Given the description of an element on the screen output the (x, y) to click on. 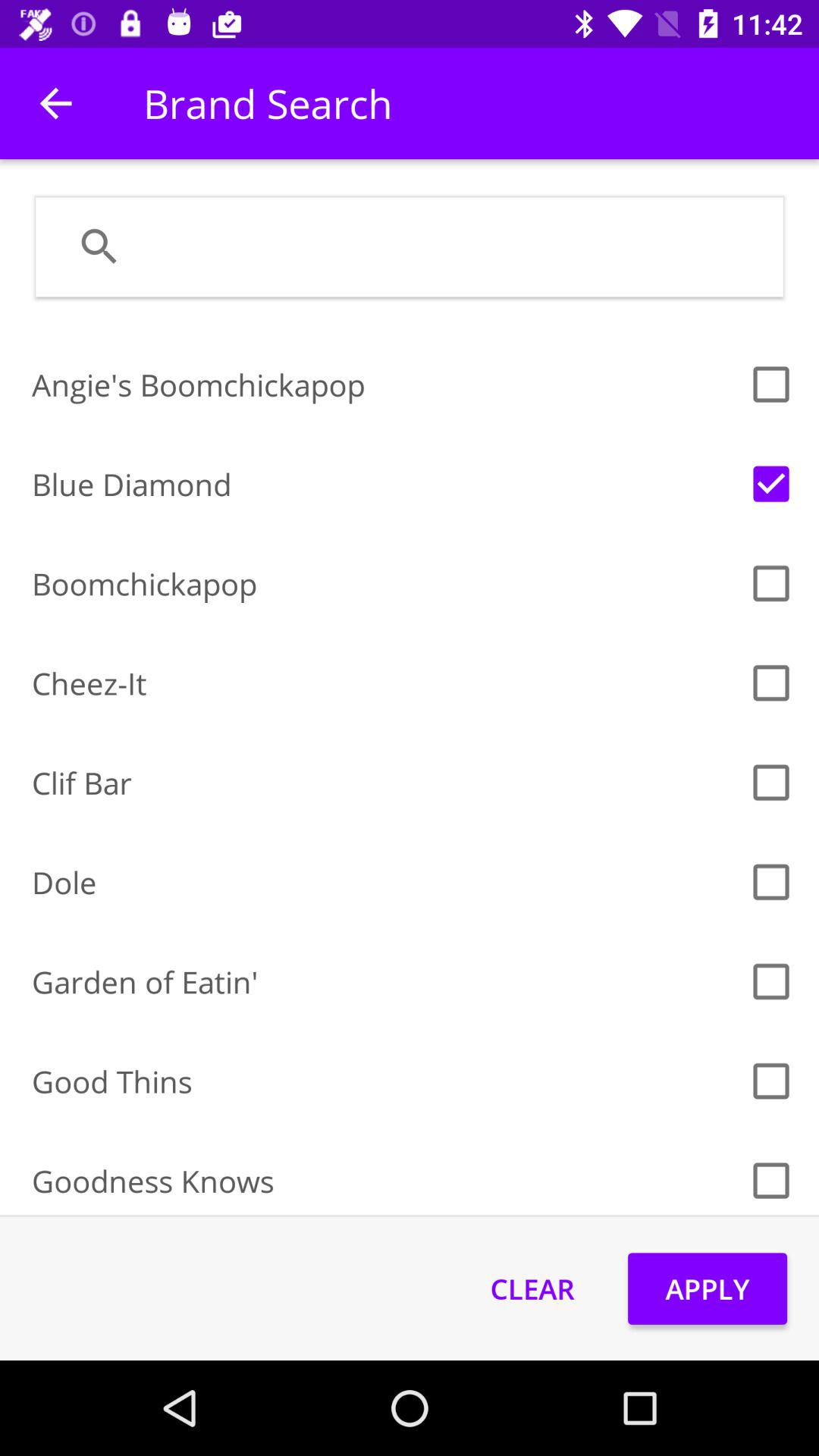
scroll until the garden of eatin' (385, 981)
